Given the description of an element on the screen output the (x, y) to click on. 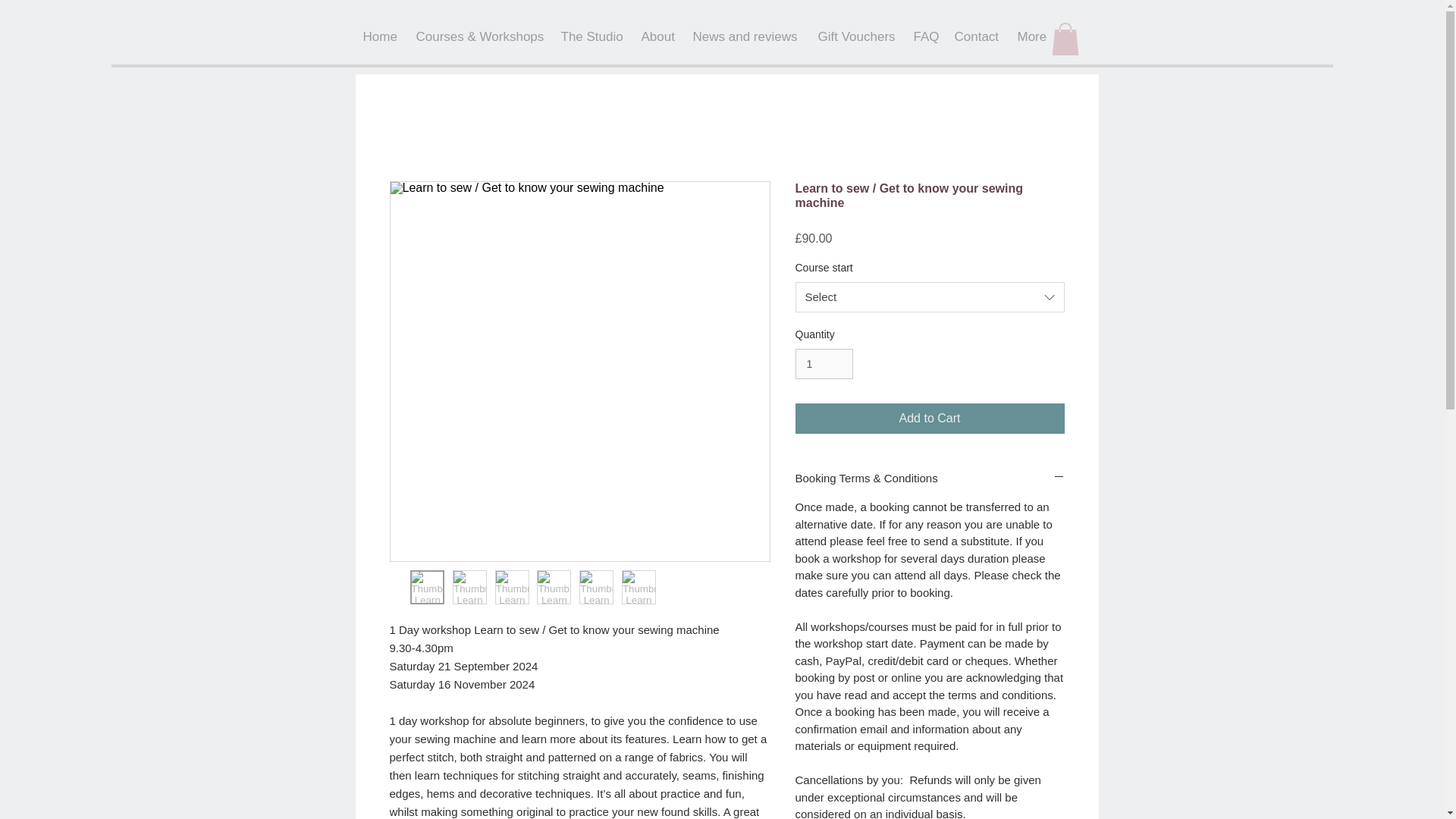
The Studio (593, 36)
Add to Cart (929, 418)
Home (381, 36)
FAQ (925, 36)
1 (822, 364)
About (659, 36)
News and reviews (747, 36)
Gift Vouchers (857, 36)
Contact (977, 36)
Select (929, 296)
